Given the description of an element on the screen output the (x, y) to click on. 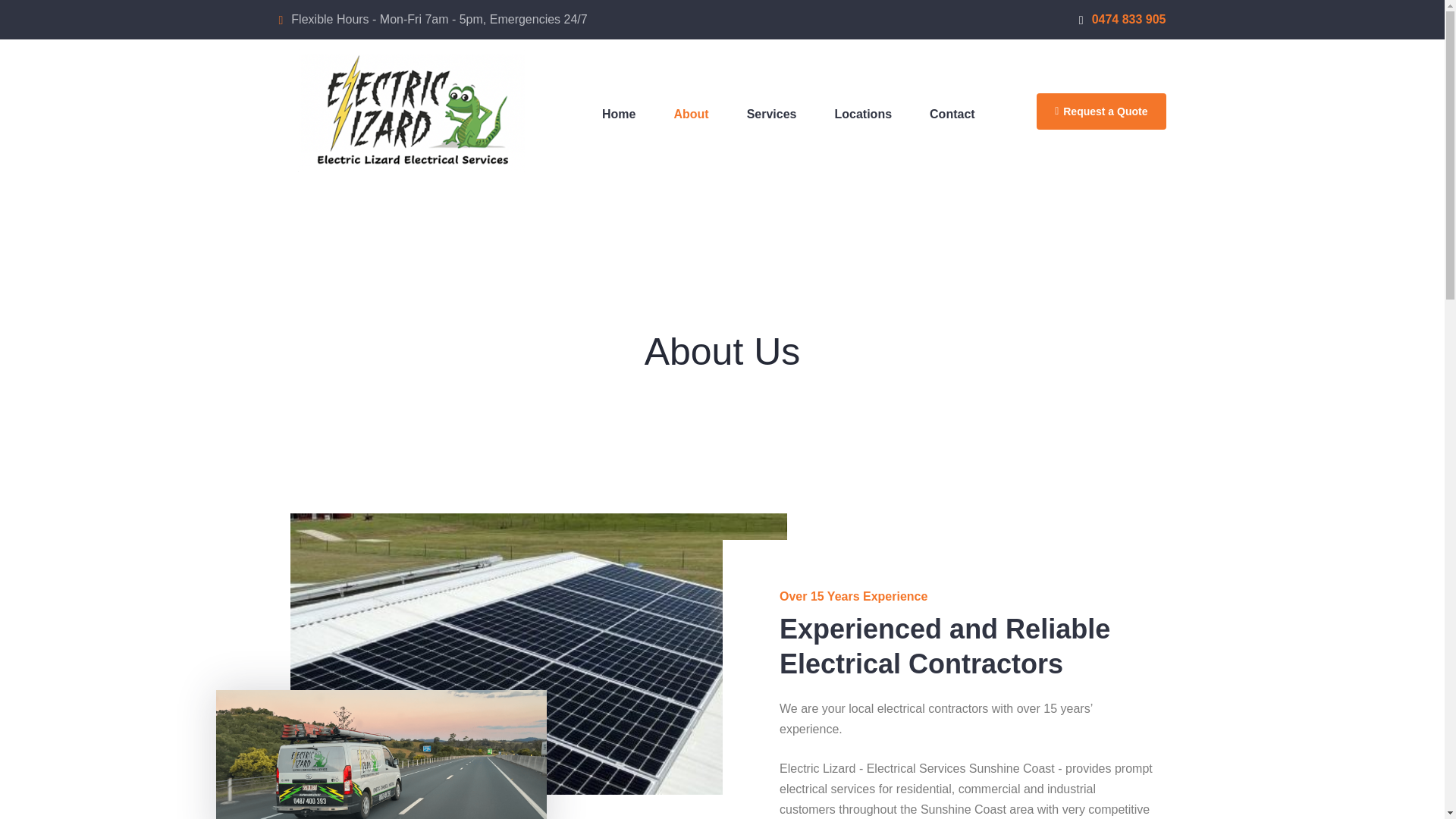
About Electric Lizard Electrical Services (690, 113)
About (690, 113)
Contact (952, 113)
0474 833 905 (1122, 19)
Home (618, 113)
Services (771, 113)
Locations (864, 113)
Local Electricians (864, 113)
Electric Lizard Electrical Services (618, 113)
Request a Quote (1101, 111)
